Given the description of an element on the screen output the (x, y) to click on. 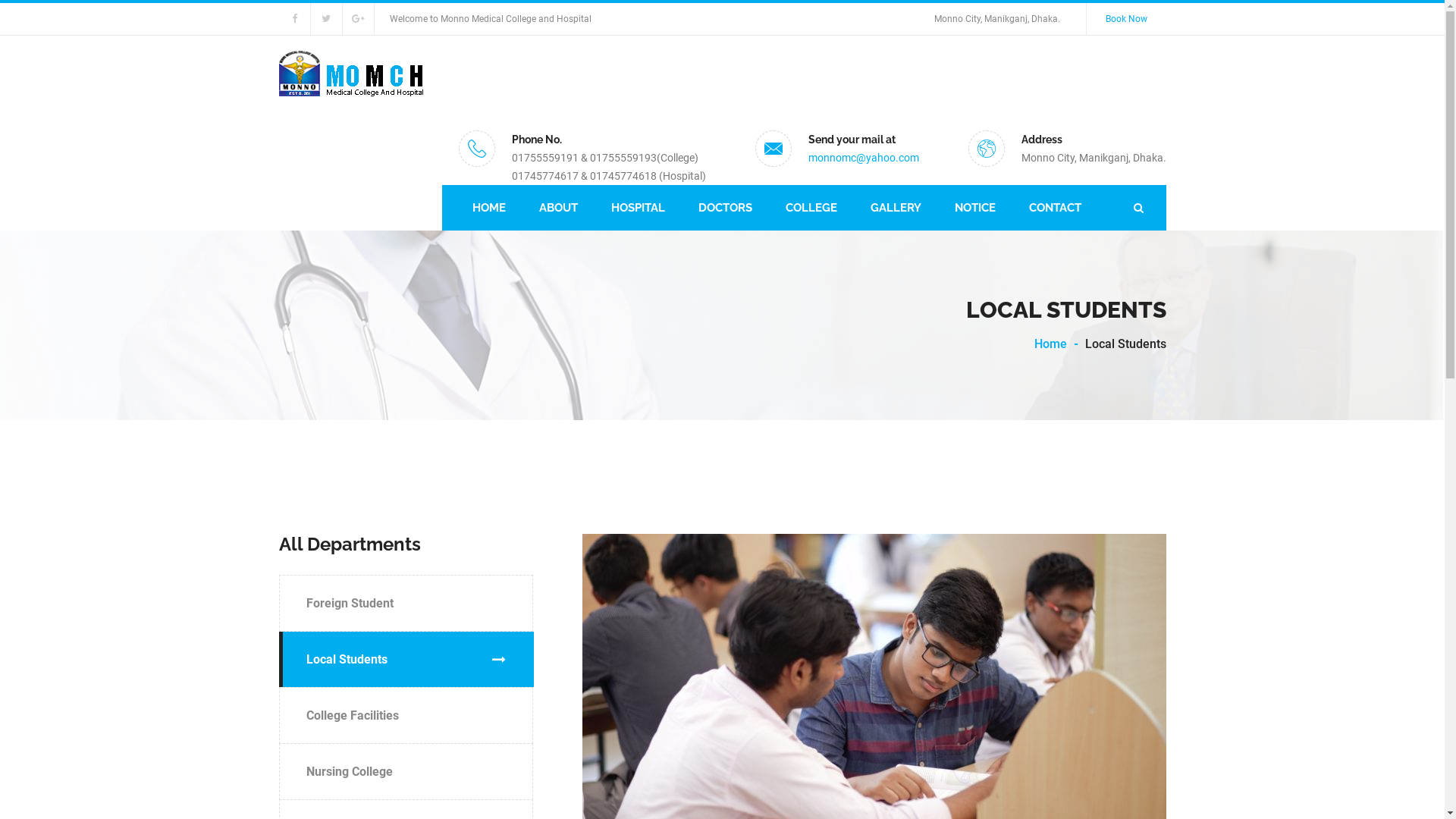
Monno City, Manikganj, Dhaka. Element type: text (996, 19)
Local Students Element type: text (406, 658)
COLLEGE Element type: text (811, 207)
CONTACT Element type: text (1054, 207)
monnomc@yahoo.com Element type: text (863, 157)
College Facilities Element type: text (406, 715)
Nursing College Element type: text (406, 771)
Foreign Student Element type: text (406, 602)
ABOUT Element type: text (557, 207)
DOCTORS Element type: text (724, 207)
GALLERY Element type: text (895, 207)
HOSPITAL Element type: text (638, 207)
Home Element type: text (1050, 343)
HOME Element type: text (488, 207)
Book Now Element type: text (1125, 19)
NOTICE Element type: text (973, 207)
